Given the description of an element on the screen output the (x, y) to click on. 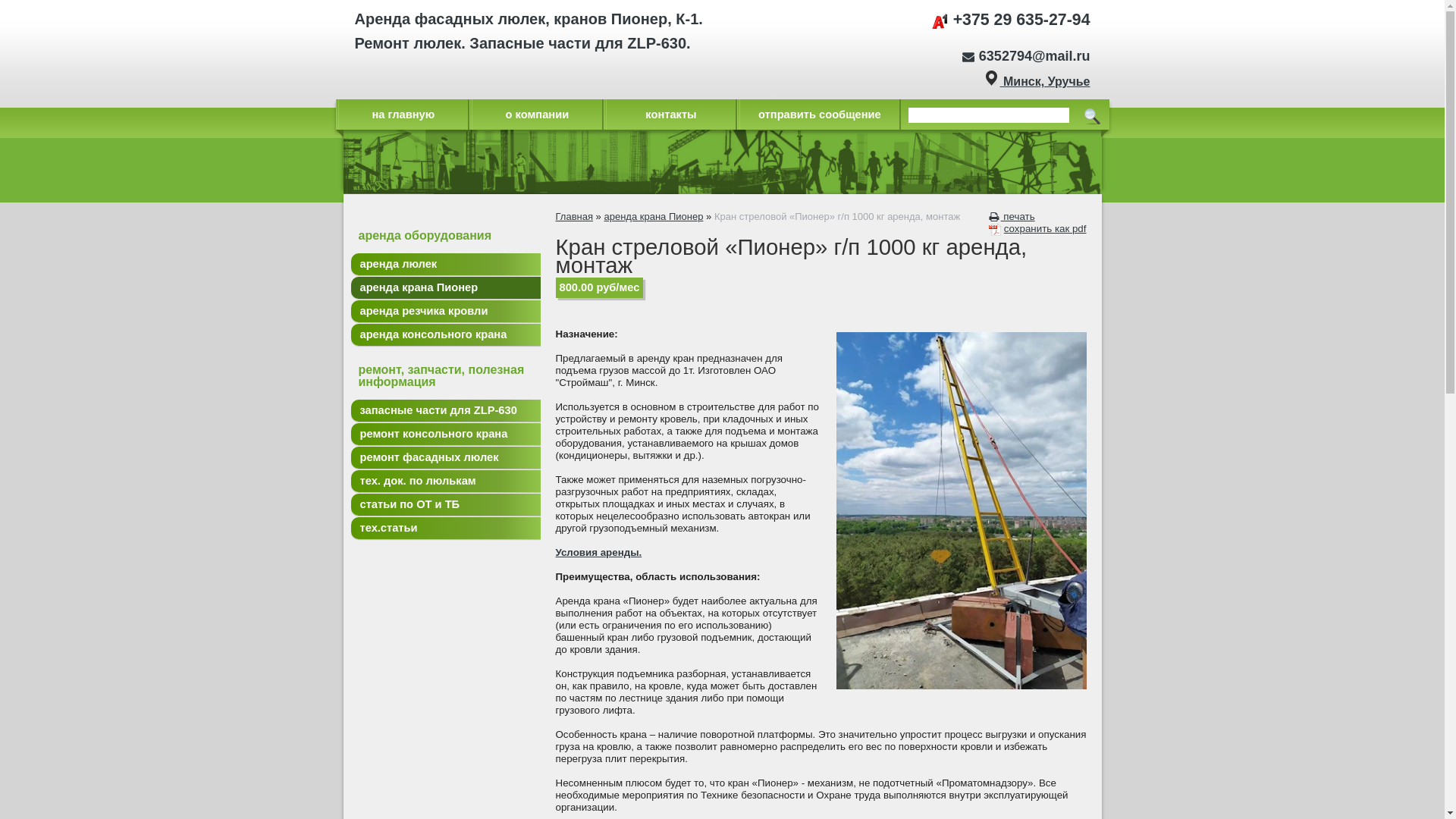
+375 29 635-27-94 Element type: text (1010, 19)
6352794@mail.ru Element type: text (1025, 55)
